Given the description of an element on the screen output the (x, y) to click on. 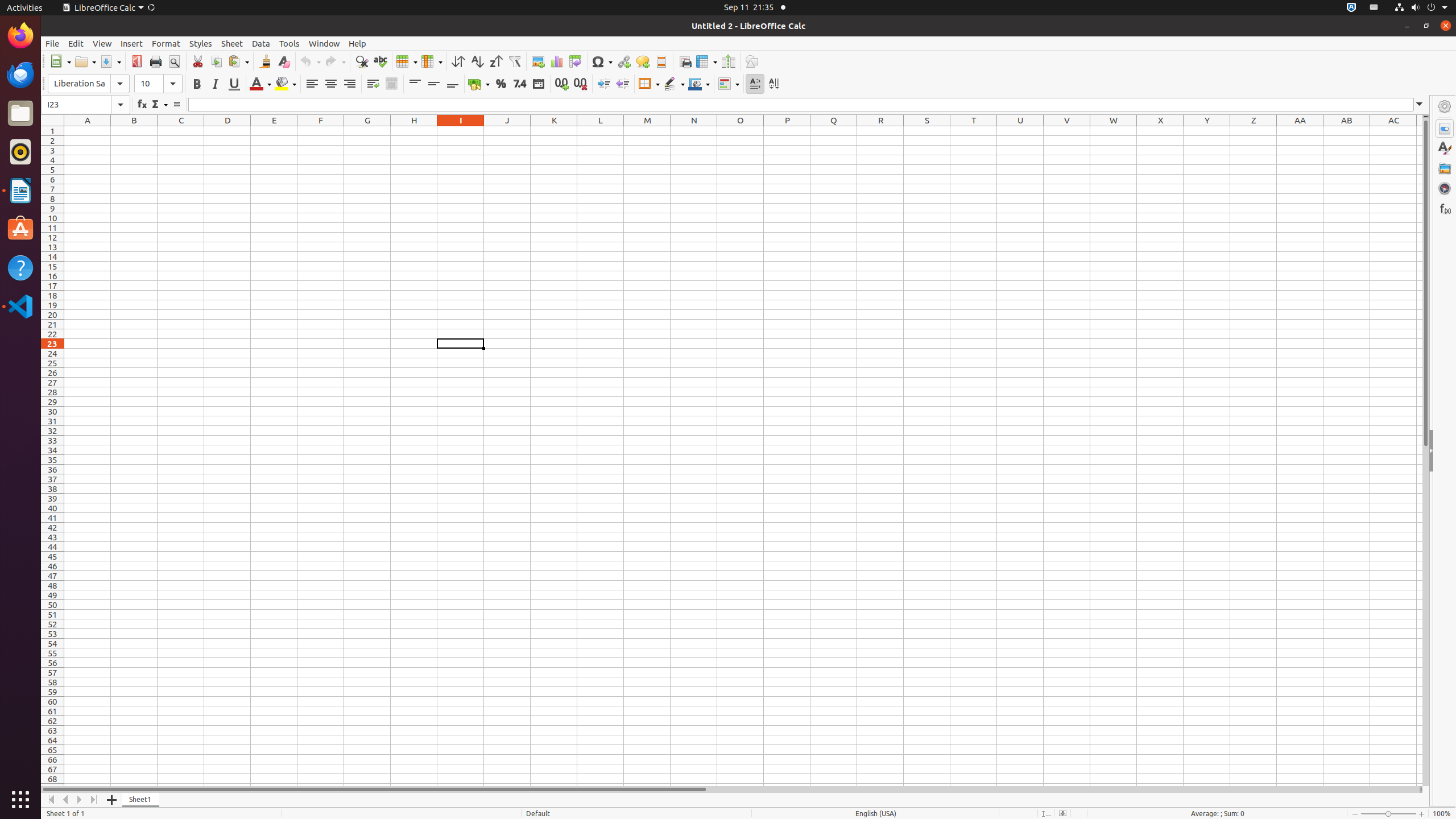
C1 Element type: table-cell (180, 130)
Symbol Element type: push-button (601, 61)
S1 Element type: table-cell (926, 130)
